Given the description of an element on the screen output the (x, y) to click on. 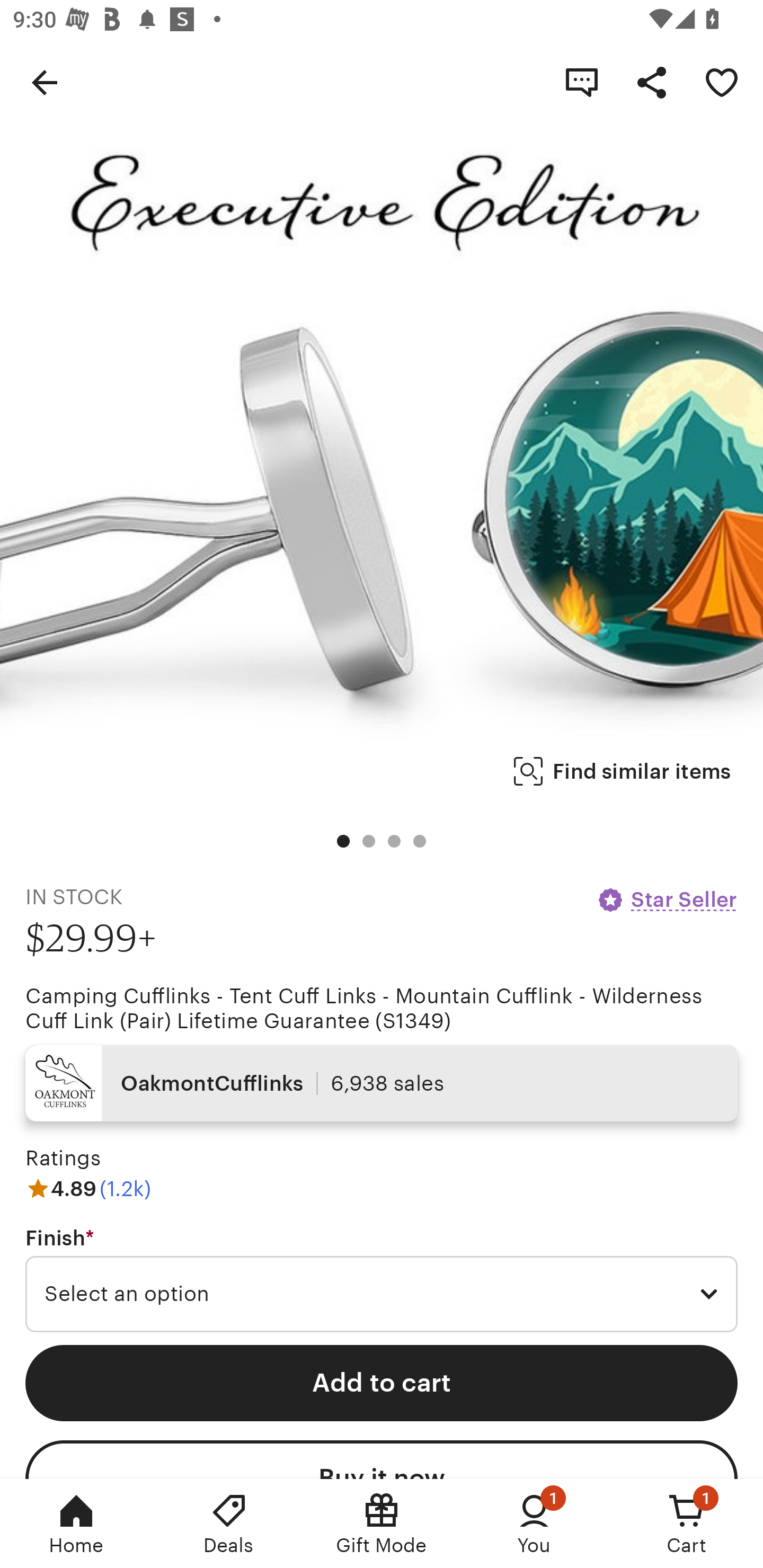
Navigate up (44, 81)
Contact shop (581, 81)
Share (651, 81)
Find similar items (622, 771)
Star Seller (666, 899)
OakmontCufflinks 6,938 sales (381, 1083)
Ratings (62, 1157)
4.89 (1.2k) (88, 1188)
Finish * Required Select an option (381, 1279)
Select an option (381, 1293)
Add to cart (381, 1382)
Deals (228, 1523)
Gift Mode (381, 1523)
You, 1 new notification You (533, 1523)
Cart, 1 new notification Cart (686, 1523)
